Given the description of an element on the screen output the (x, y) to click on. 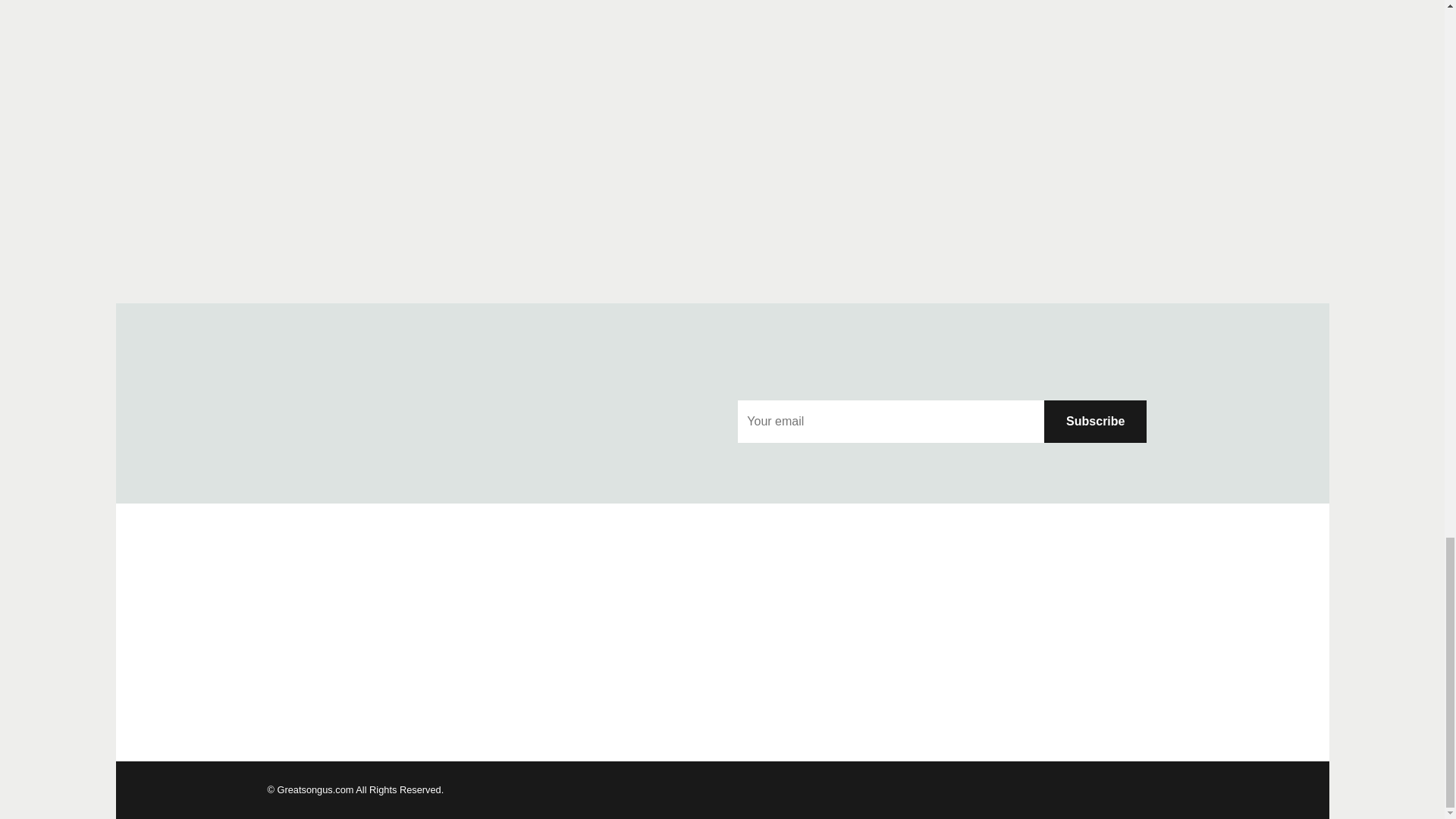
Subscribe (1095, 421)
Subscribe (1095, 421)
